Given the description of an element on the screen output the (x, y) to click on. 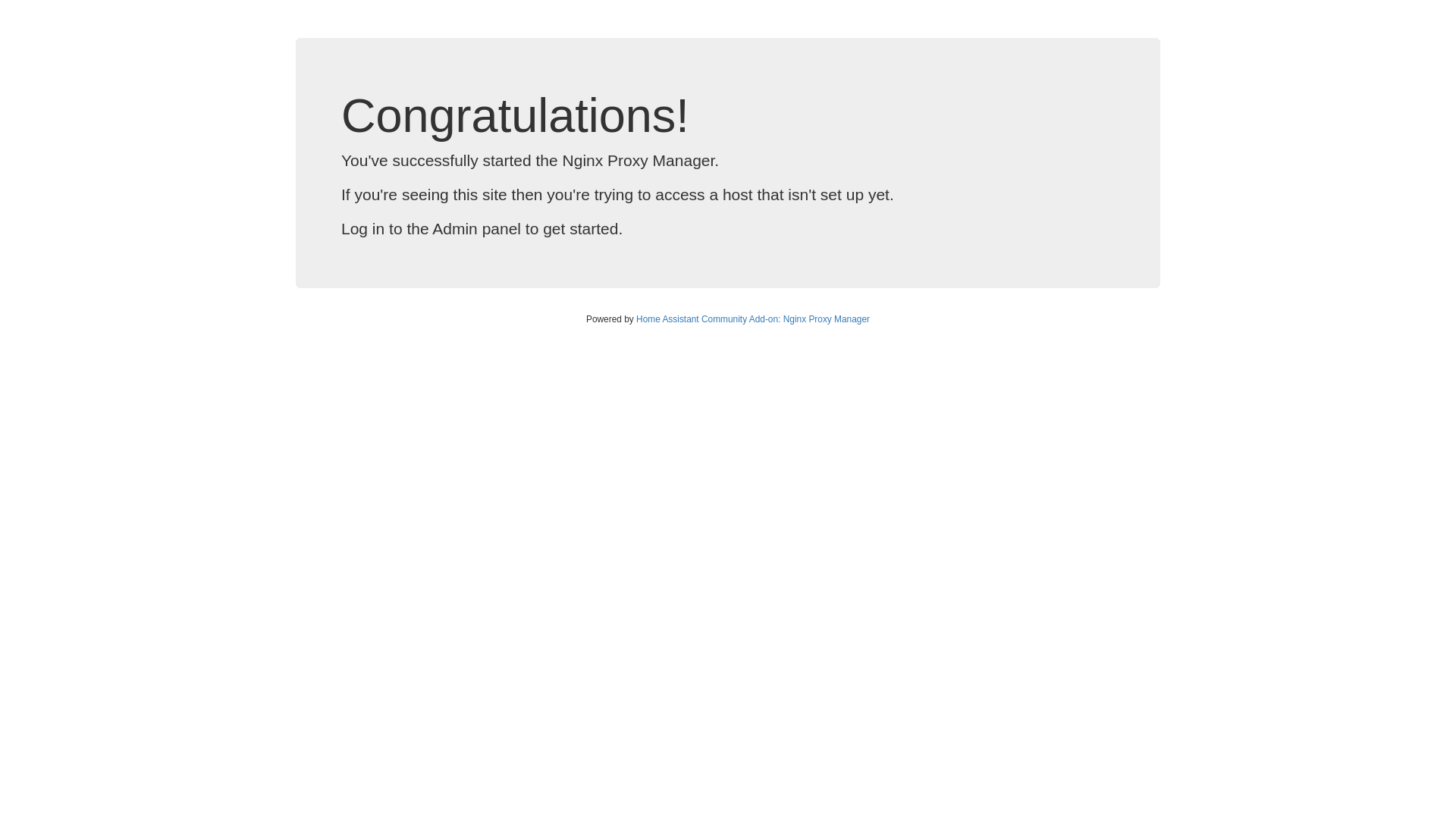
Home Assistant Community Add-on: Nginx Proxy Manager Element type: text (752, 318)
